Given the description of an element on the screen output the (x, y) to click on. 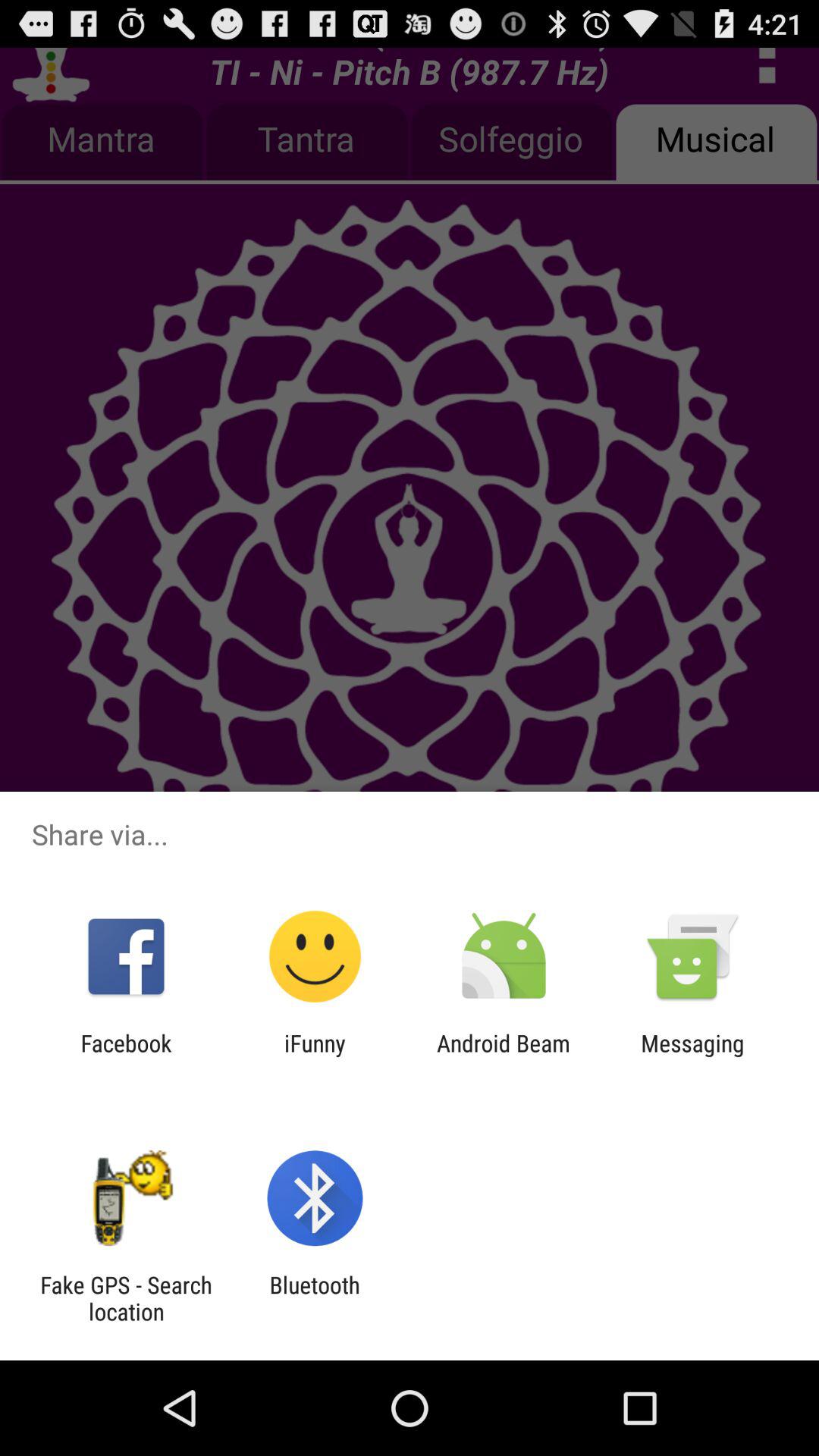
turn on the icon to the right of facebook (314, 1056)
